Given the description of an element on the screen output the (x, y) to click on. 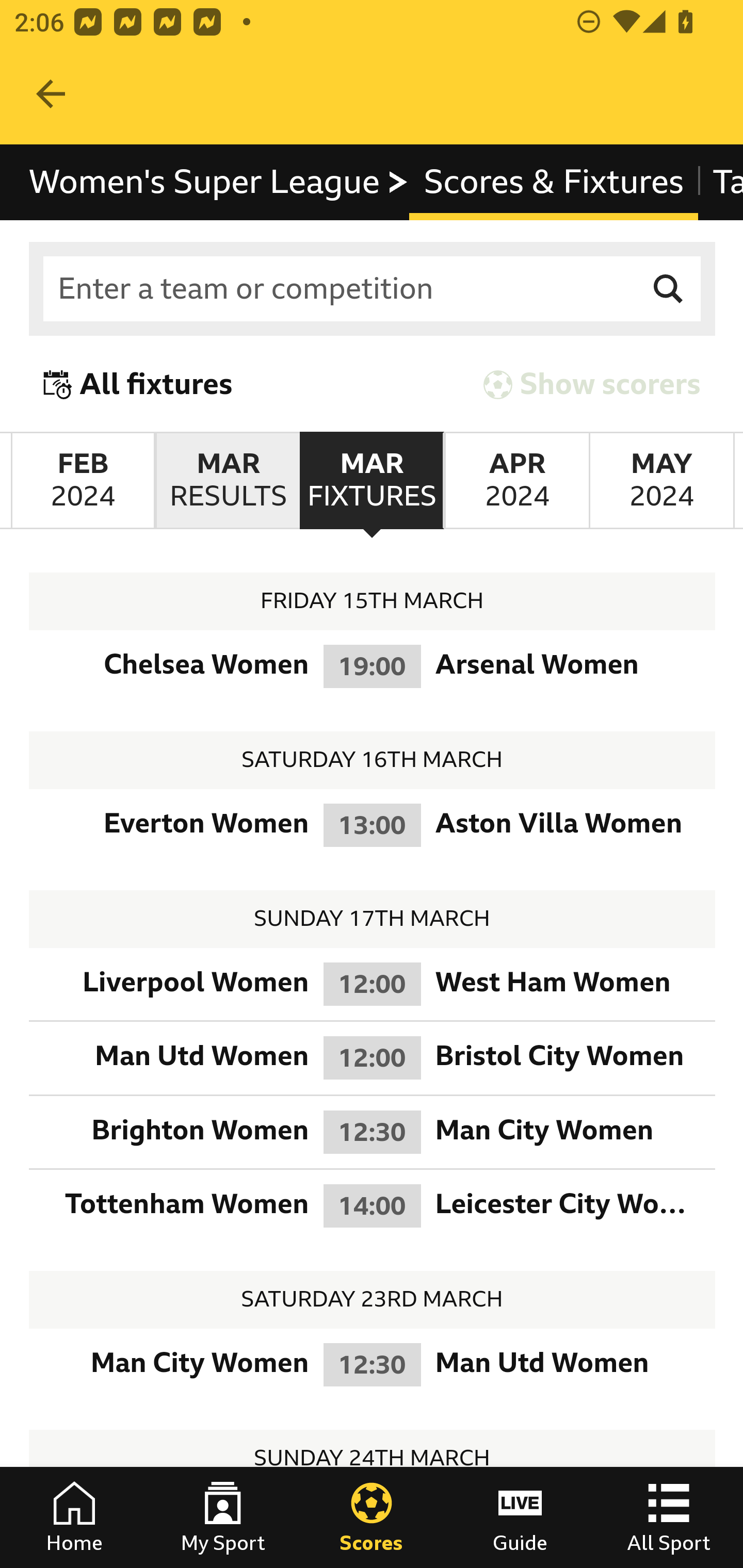
Navigate up (50, 93)
Women's Super League  (218, 181)
Scores & Fixtures (552, 181)
Search (669, 289)
All fixtures (137, 383)
Show scorers (591, 383)
February2024 February 2024 (83, 480)
MarchRESULTS March RESULTS (227, 480)
MarchFIXTURES, Selected March FIXTURES , Selected (371, 480)
April2024 April 2024 (516, 480)
May2024 May 2024 (661, 480)
Home (74, 1517)
My Sport (222, 1517)
Guide (519, 1517)
All Sport (668, 1517)
